Given the description of an element on the screen output the (x, y) to click on. 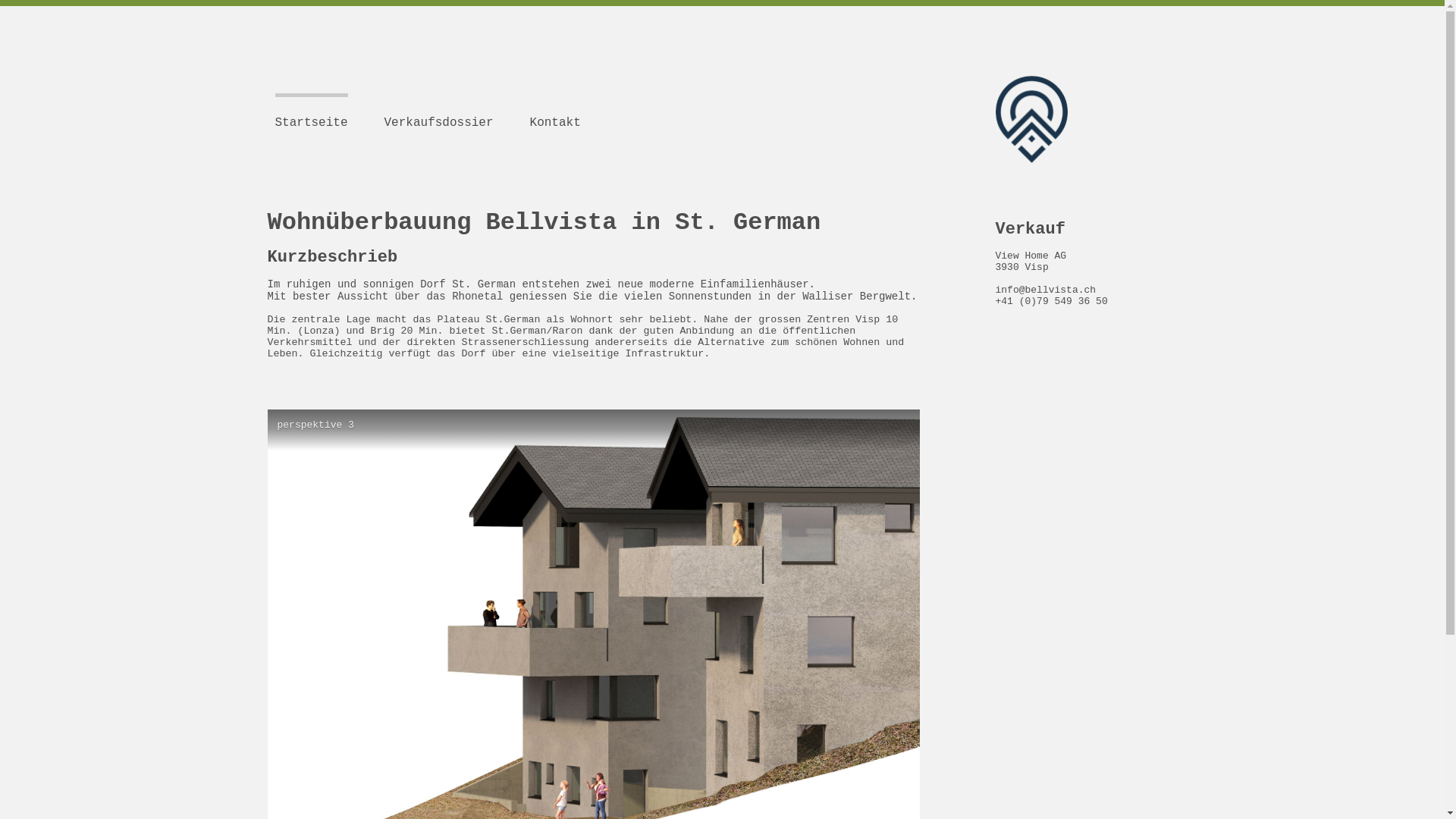
Verkaufsdossier Element type: text (438, 113)
Kontakt Element type: text (555, 113)
Startseite Element type: text (310, 113)
